Given the description of an element on the screen output the (x, y) to click on. 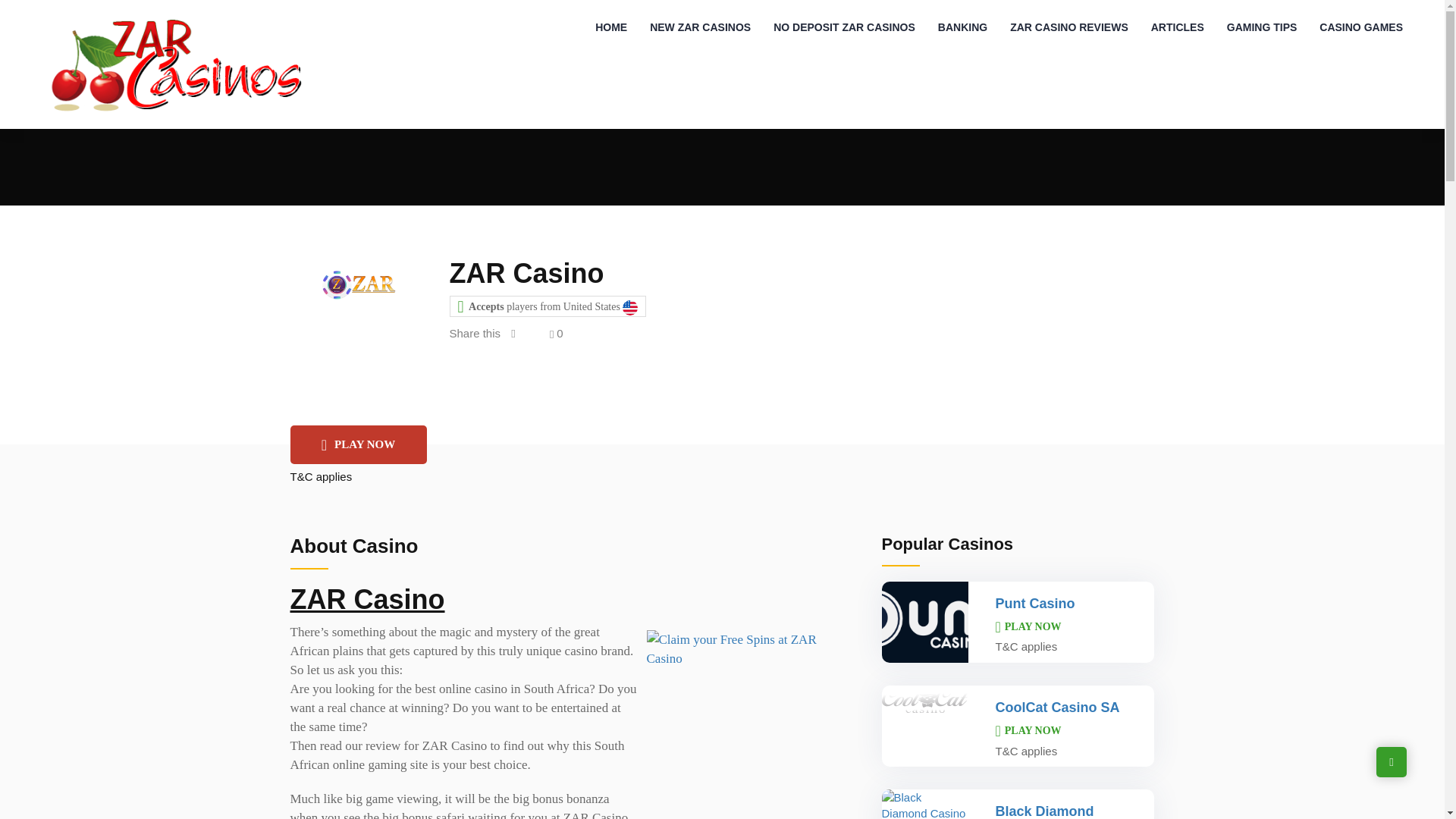
NEW ZAR CASINOS (700, 27)
HOME (611, 27)
GAMING TIPS (1261, 27)
CASINO GAMES (1360, 27)
ARTICLES (1177, 27)
NO DEPOSIT ZAR CASINOS (843, 27)
BANKING (962, 27)
ZAR CASINO REVIEWS (1069, 27)
